Given the description of an element on the screen output the (x, y) to click on. 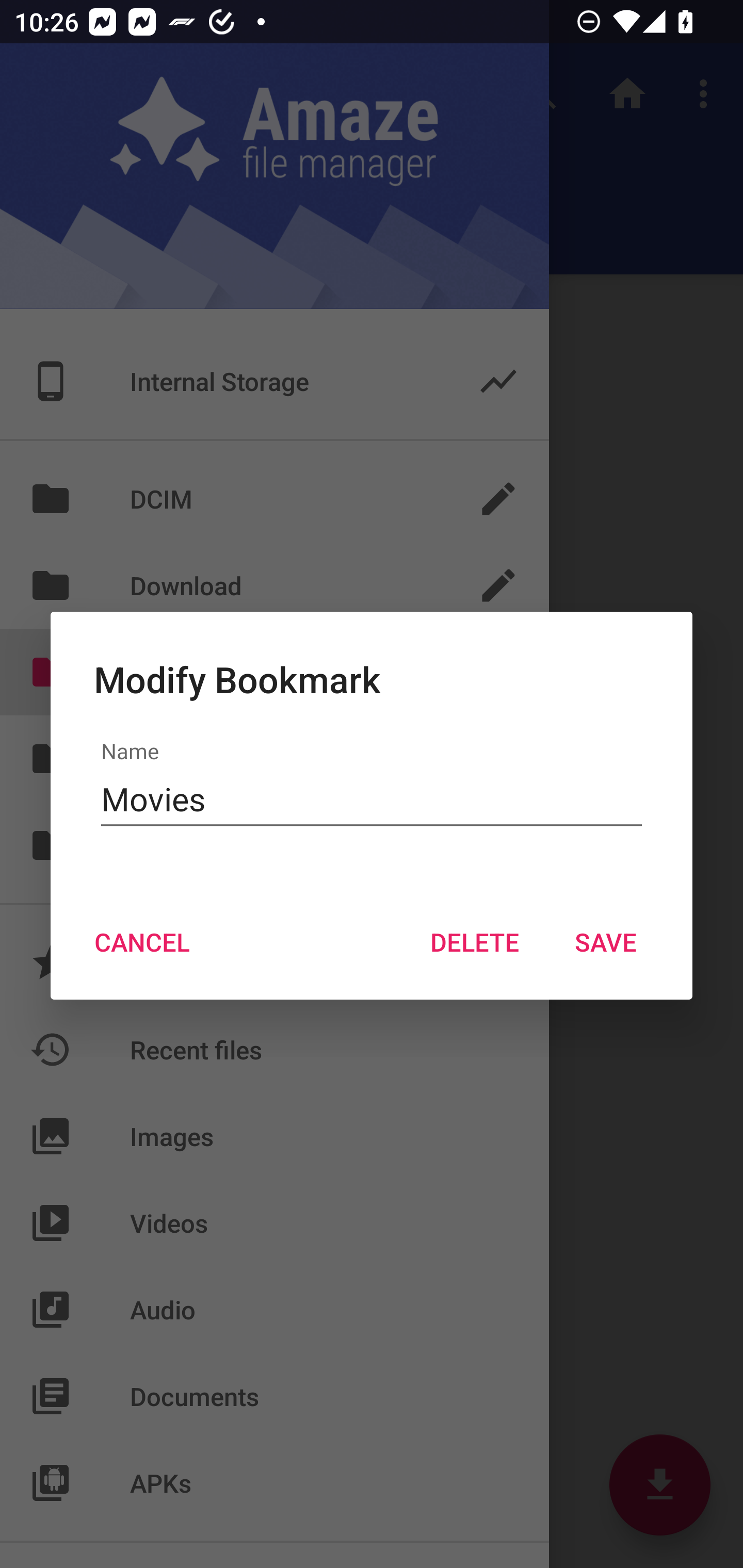
Movies (371, 799)
CANCEL (141, 941)
DELETE (473, 941)
SAVE (605, 941)
